Given the description of an element on the screen output the (x, y) to click on. 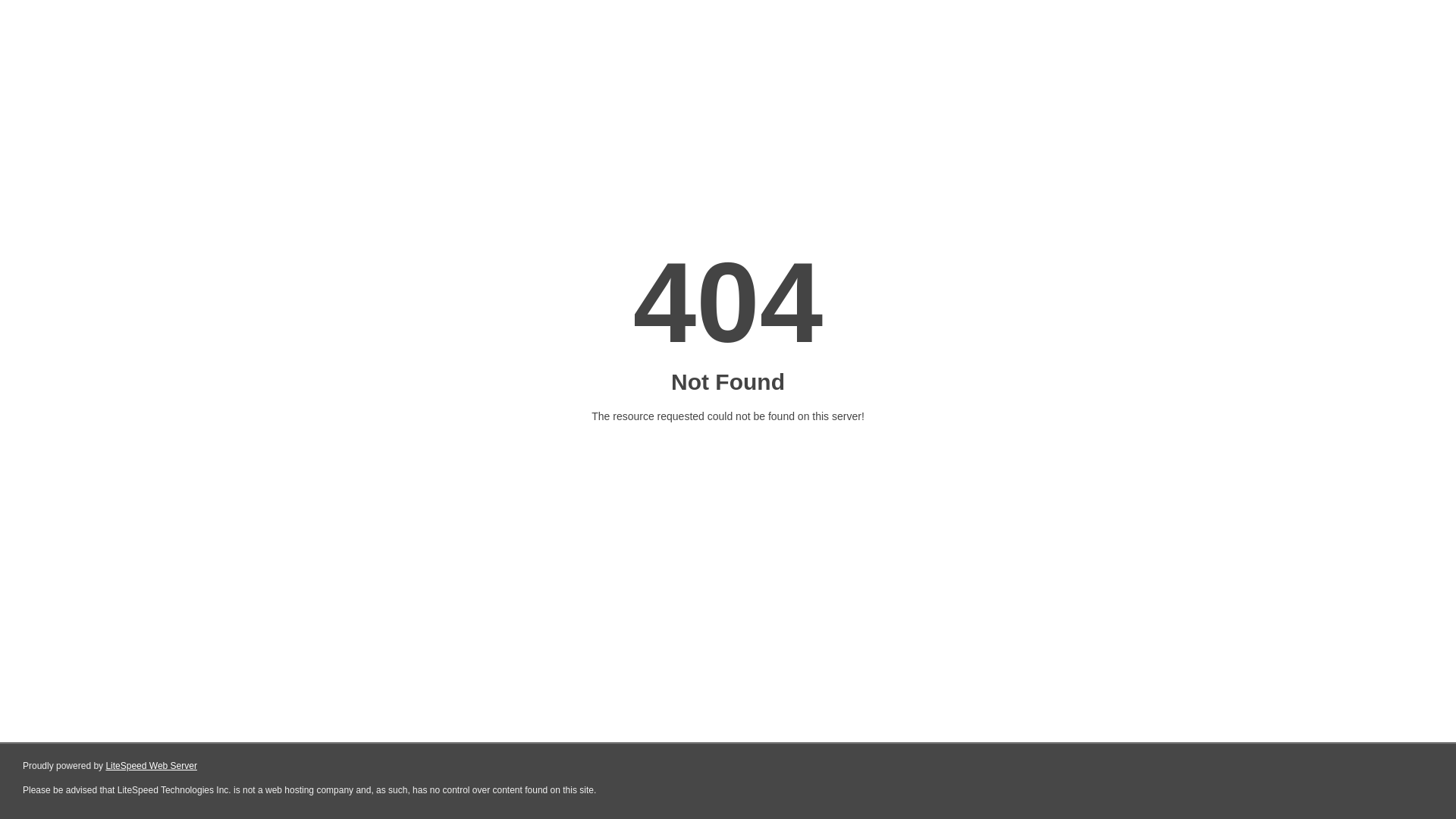
LiteSpeed Web Server Element type: text (151, 765)
